Given the description of an element on the screen output the (x, y) to click on. 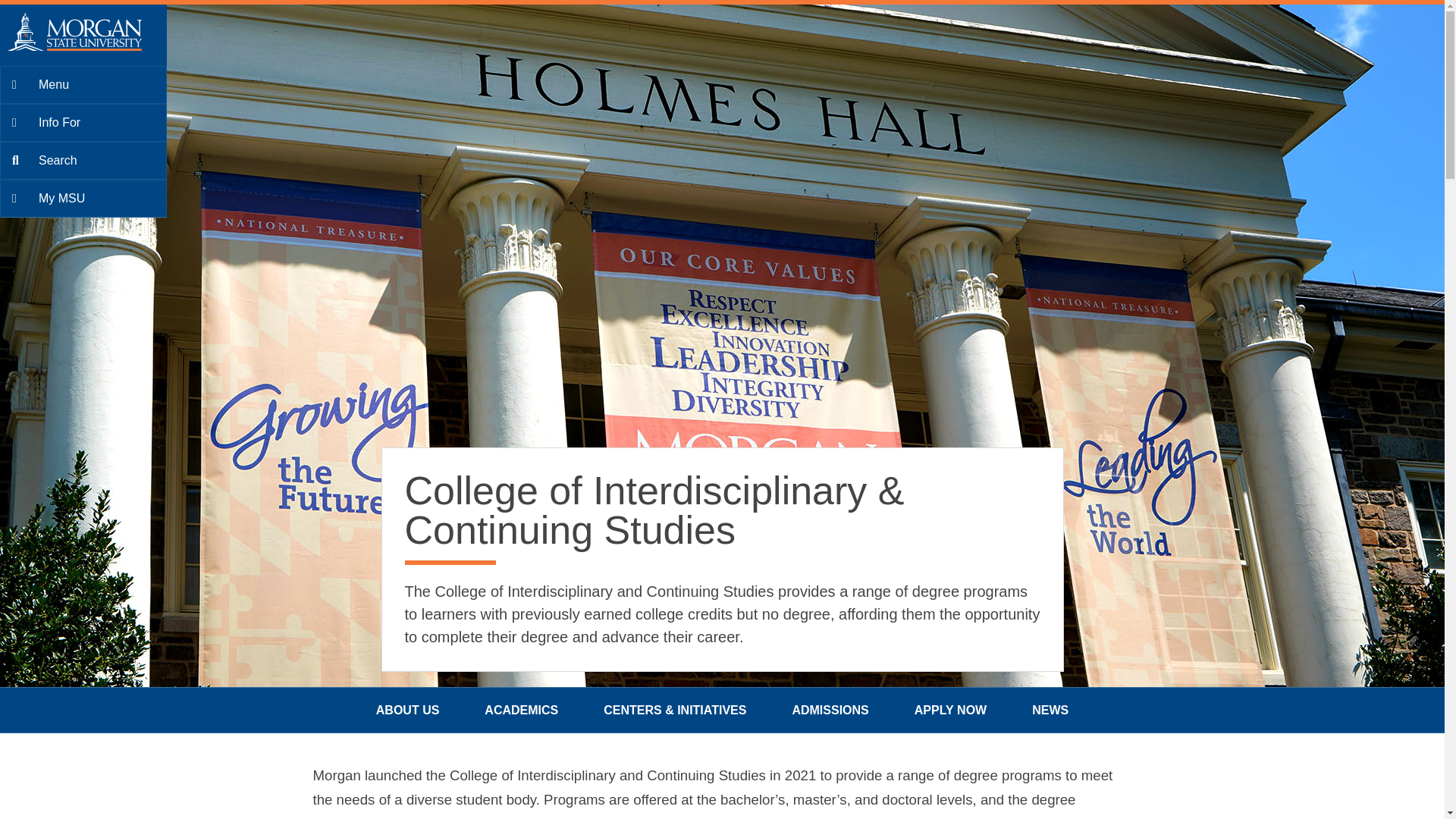
My MSU (83, 198)
Search (83, 160)
Info For (83, 122)
Menu (83, 85)
